Given the description of an element on the screen output the (x, y) to click on. 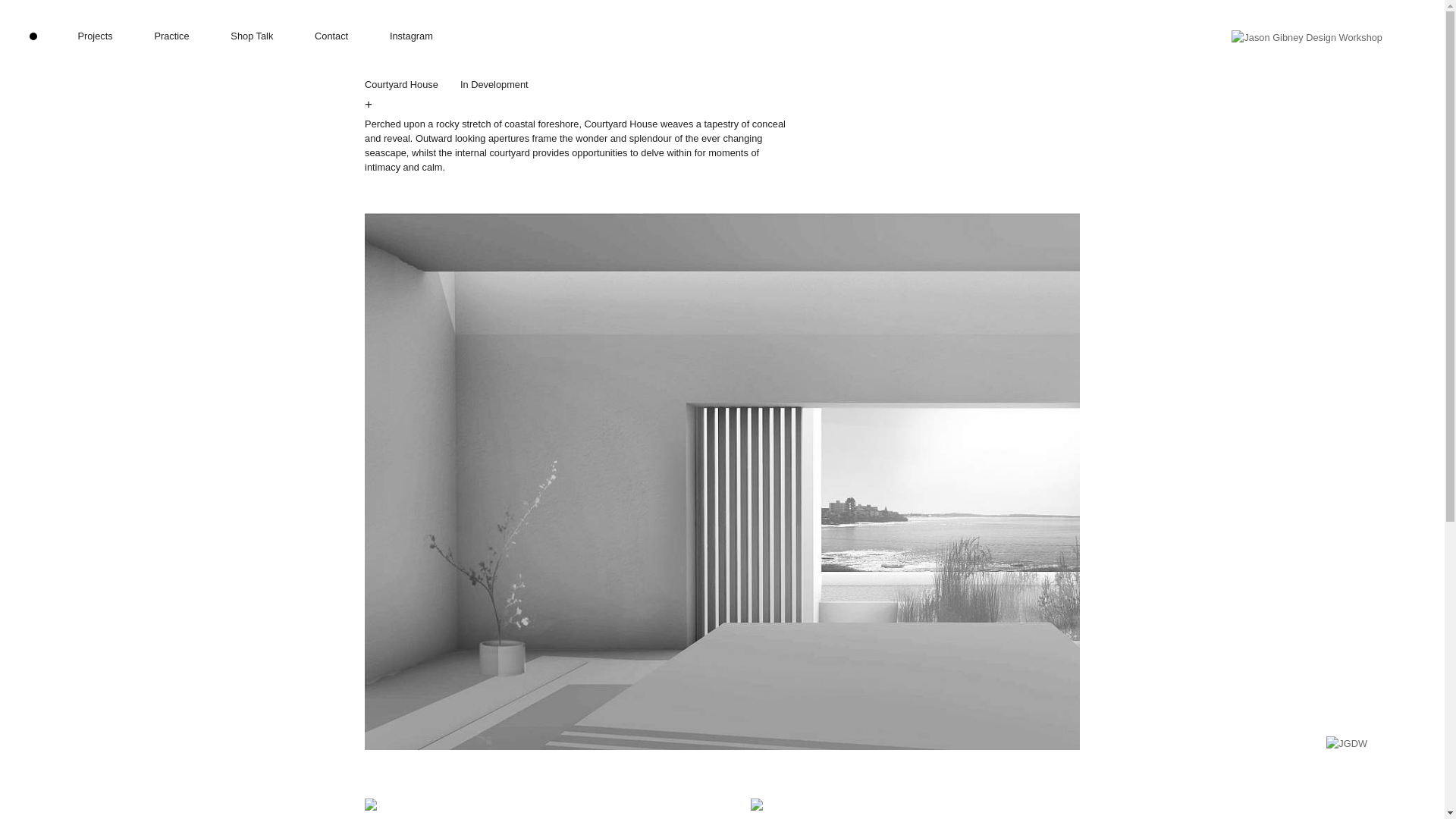
Shop Talk Element type: text (251, 35)
+ Element type: text (368, 103)
Practice Element type: text (170, 35)
Contact Element type: text (331, 35)
Instagram Element type: text (411, 35)
Projects Element type: text (94, 35)
